Given the description of an element on the screen output the (x, y) to click on. 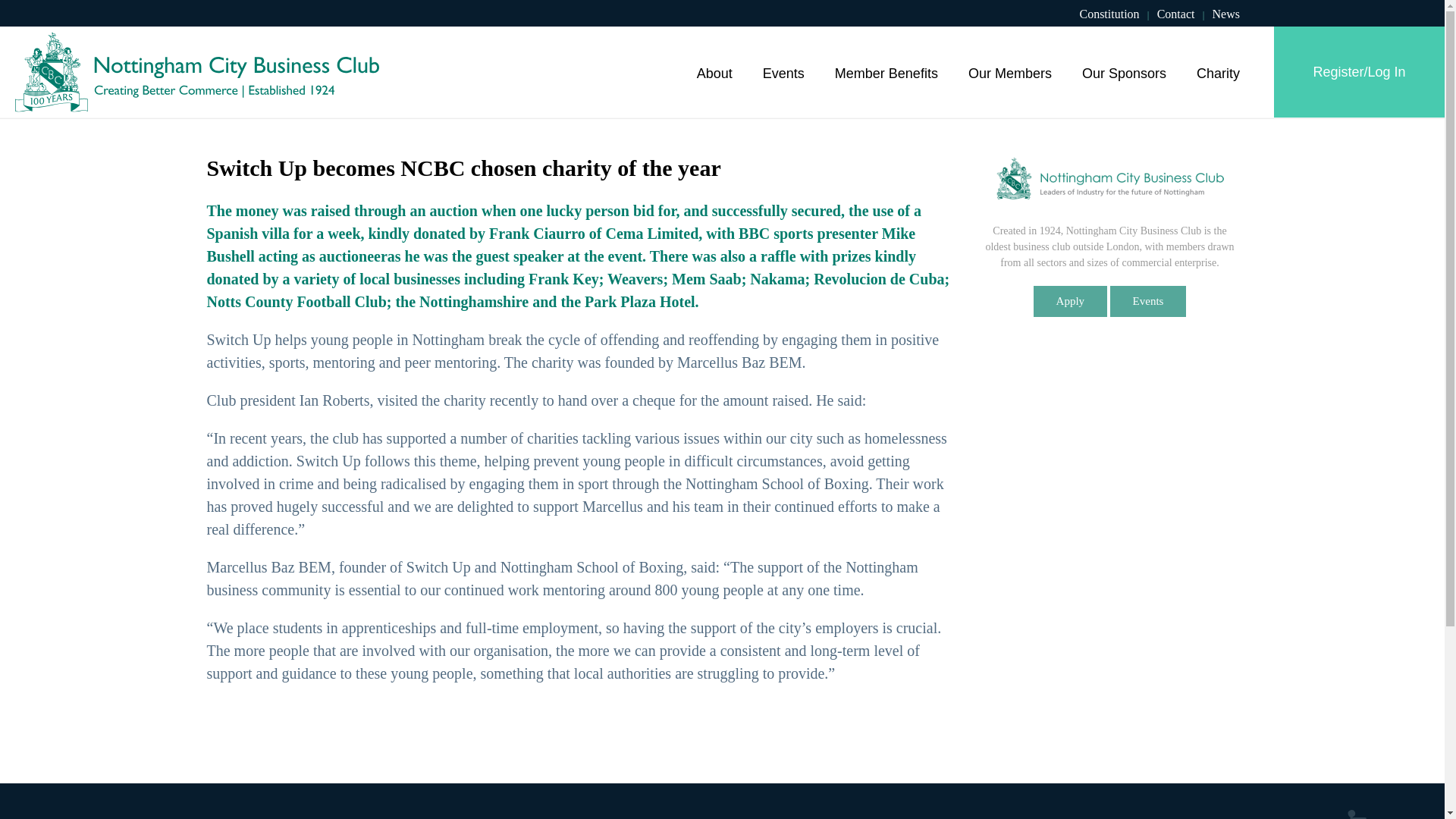
Constitution (1108, 13)
Our Members (1010, 71)
Our Sponsors (1123, 71)
Member Benefits (886, 71)
Our Sponsors (1123, 71)
Our Members (1010, 71)
Nottingham City Business Club (196, 72)
Contact (1176, 13)
News (1226, 13)
Member Benefits (886, 71)
